Given the description of an element on the screen output the (x, y) to click on. 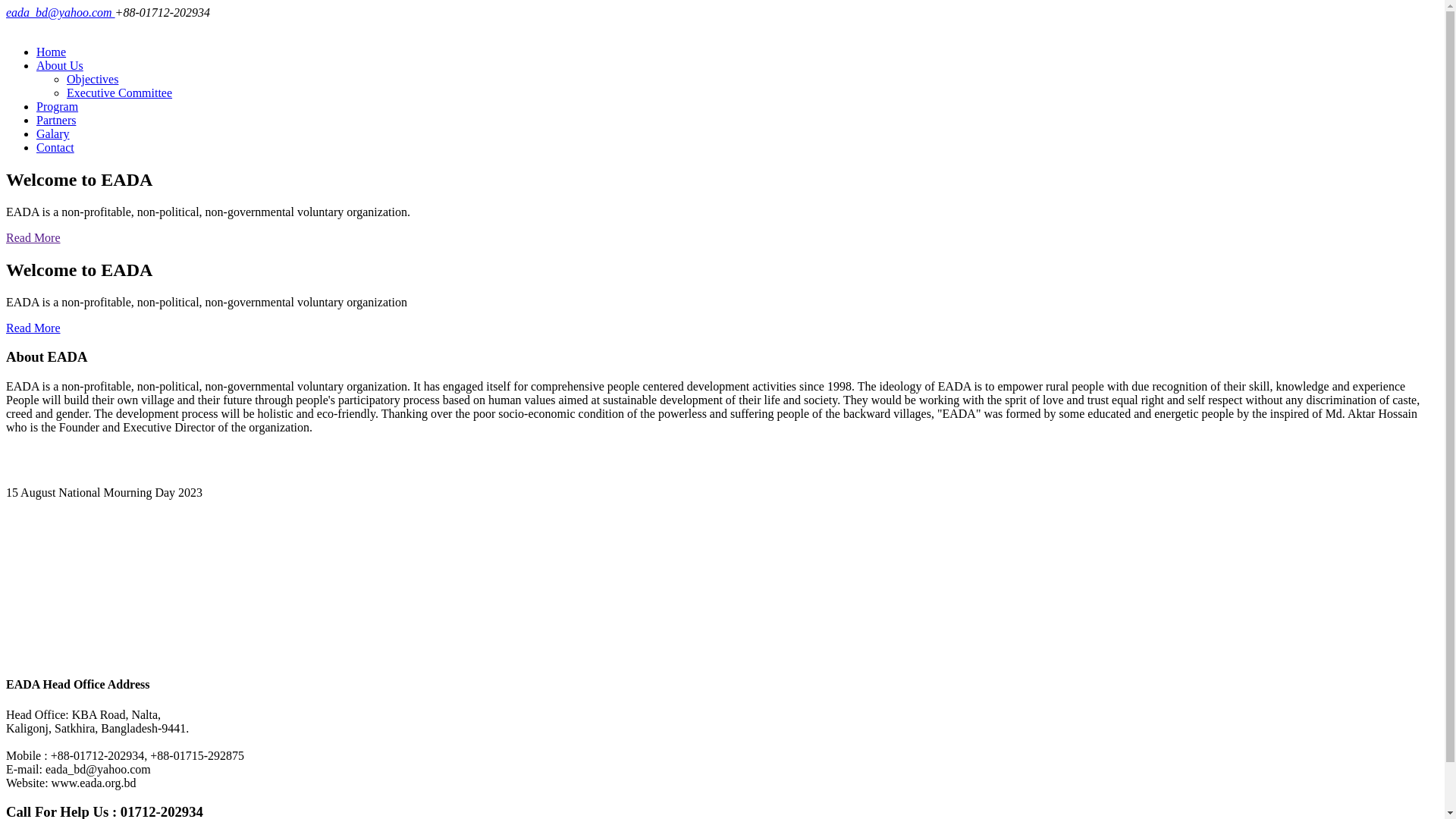
Contact Element type: text (55, 147)
eada_bd@yahoo.com Element type: text (60, 12)
Program Element type: text (57, 106)
Partners Element type: text (55, 119)
Read More Element type: text (33, 237)
Executive Committee Element type: text (119, 92)
Objectives Element type: text (92, 78)
Galary Element type: text (52, 133)
About Us Element type: text (59, 65)
Read More Element type: text (33, 327)
Home Element type: text (50, 51)
